Given the description of an element on the screen output the (x, y) to click on. 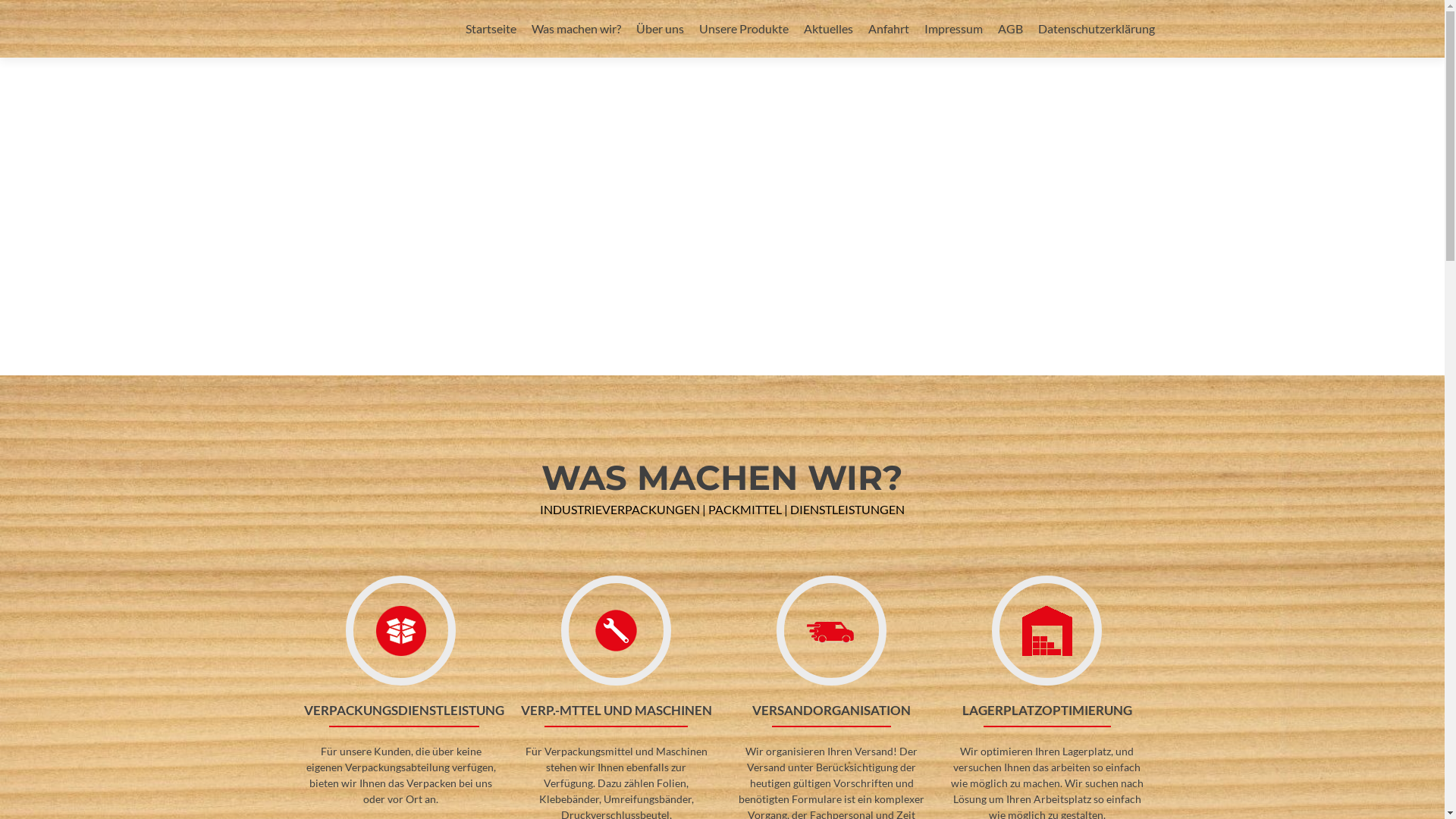
Go to Lagerplatzoptimierung Element type: text (1046, 630)
Was machen wir? Element type: text (575, 28)
Go to Verp.-Mttel und Maschinen Element type: text (616, 630)
Go to Versandorganisation Element type: text (831, 630)
Aktuelles Element type: text (828, 28)
Startseite Element type: text (490, 28)
Anfahrt Element type: text (887, 28)
Unsere Produkte Element type: text (743, 28)
Go to Verpackungsdienstleistung Element type: text (400, 630)
Impressum Element type: text (952, 28)
AGB Element type: text (1009, 28)
